Given the description of an element on the screen output the (x, y) to click on. 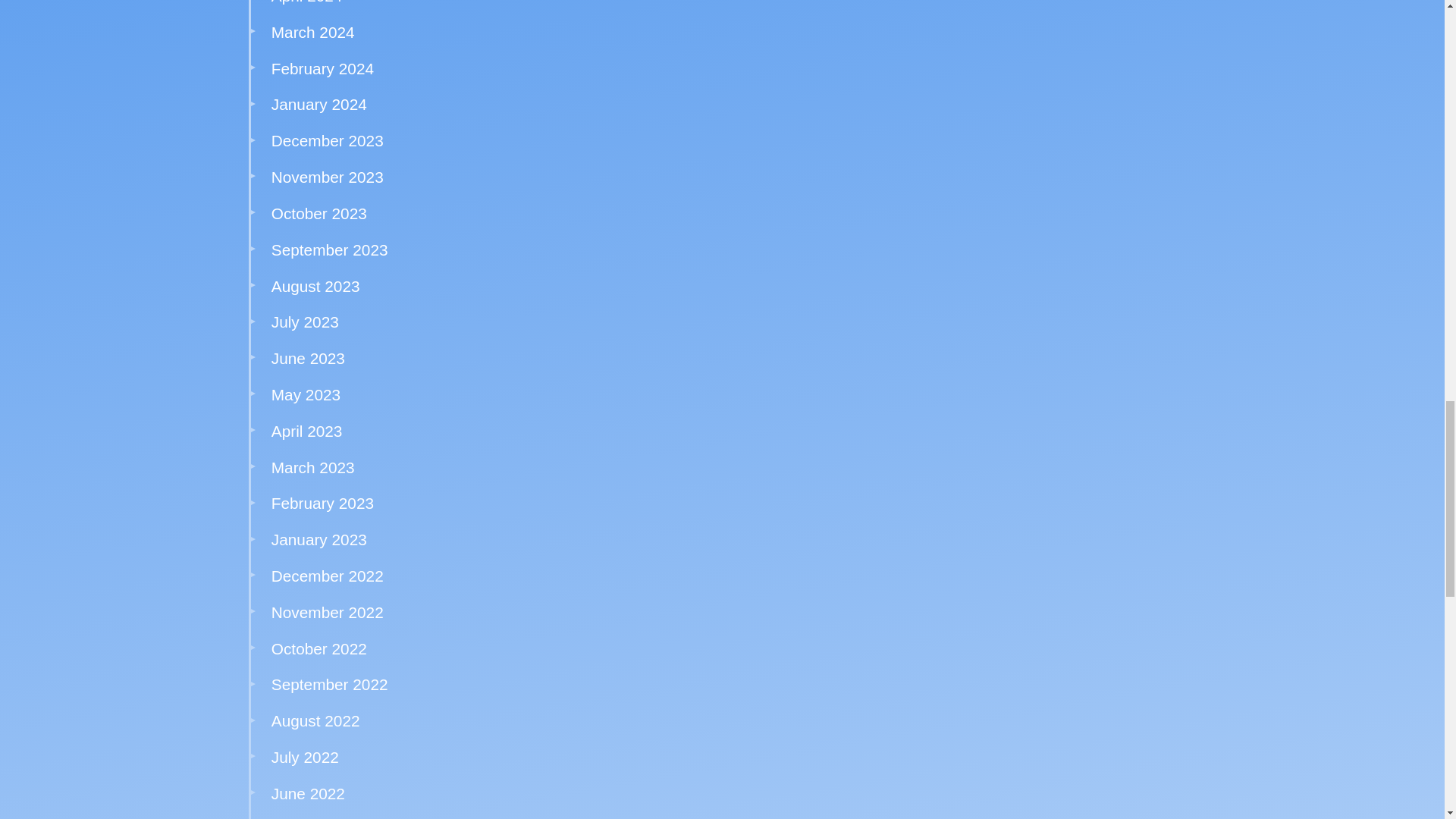
September 2022 (329, 683)
May 2023 (305, 394)
December 2022 (327, 575)
January 2024 (318, 104)
January 2023 (318, 538)
December 2023 (327, 140)
June 2022 (307, 793)
September 2023 (329, 249)
February 2024 (322, 67)
October 2022 (318, 648)
November 2022 (327, 611)
February 2023 (322, 502)
April 2024 (306, 2)
July 2023 (304, 321)
August 2022 (314, 720)
